Given the description of an element on the screen output the (x, y) to click on. 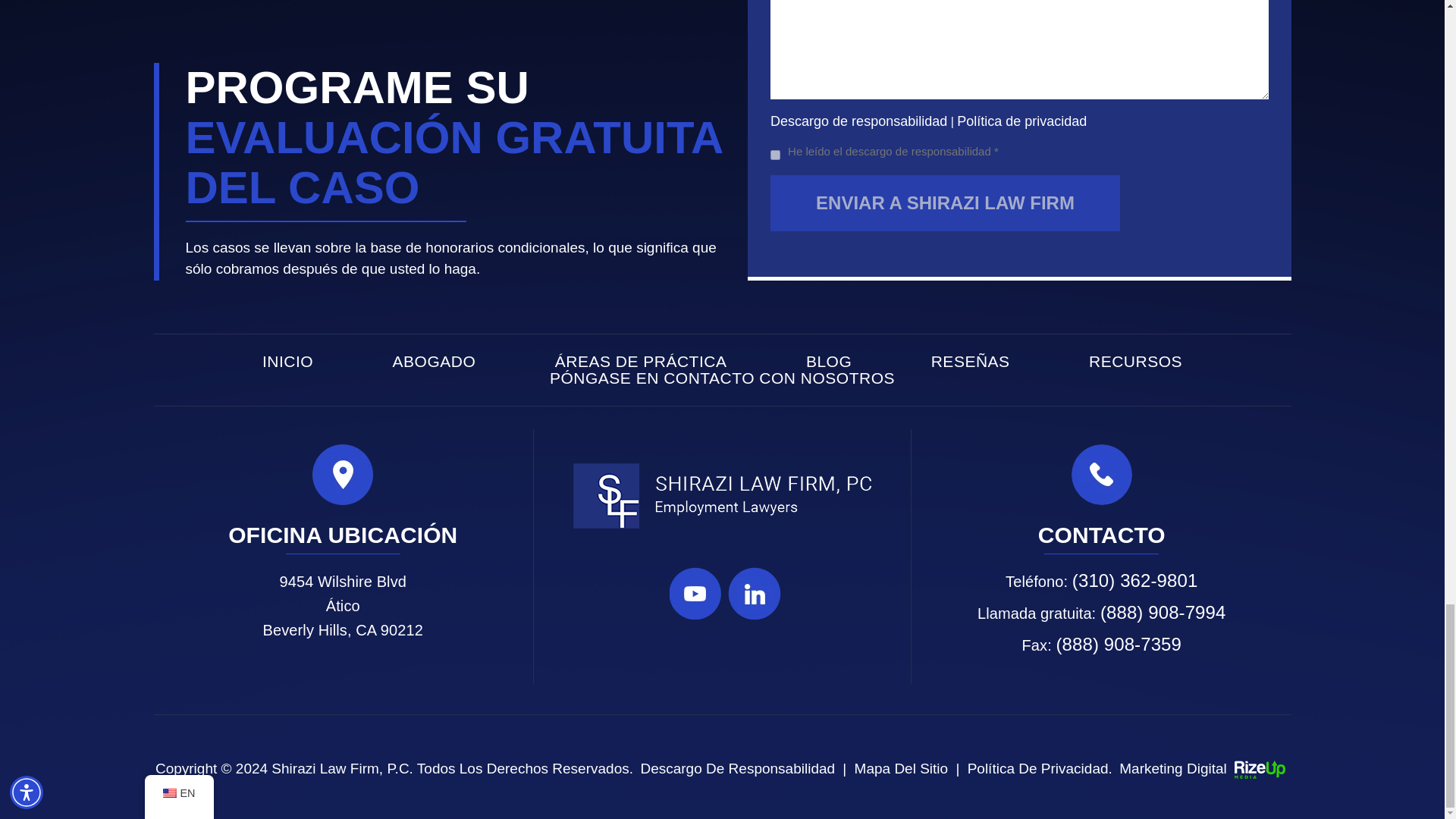
Enviar a Shirazi Law Firm (944, 202)
